Given the description of an element on the screen output the (x, y) to click on. 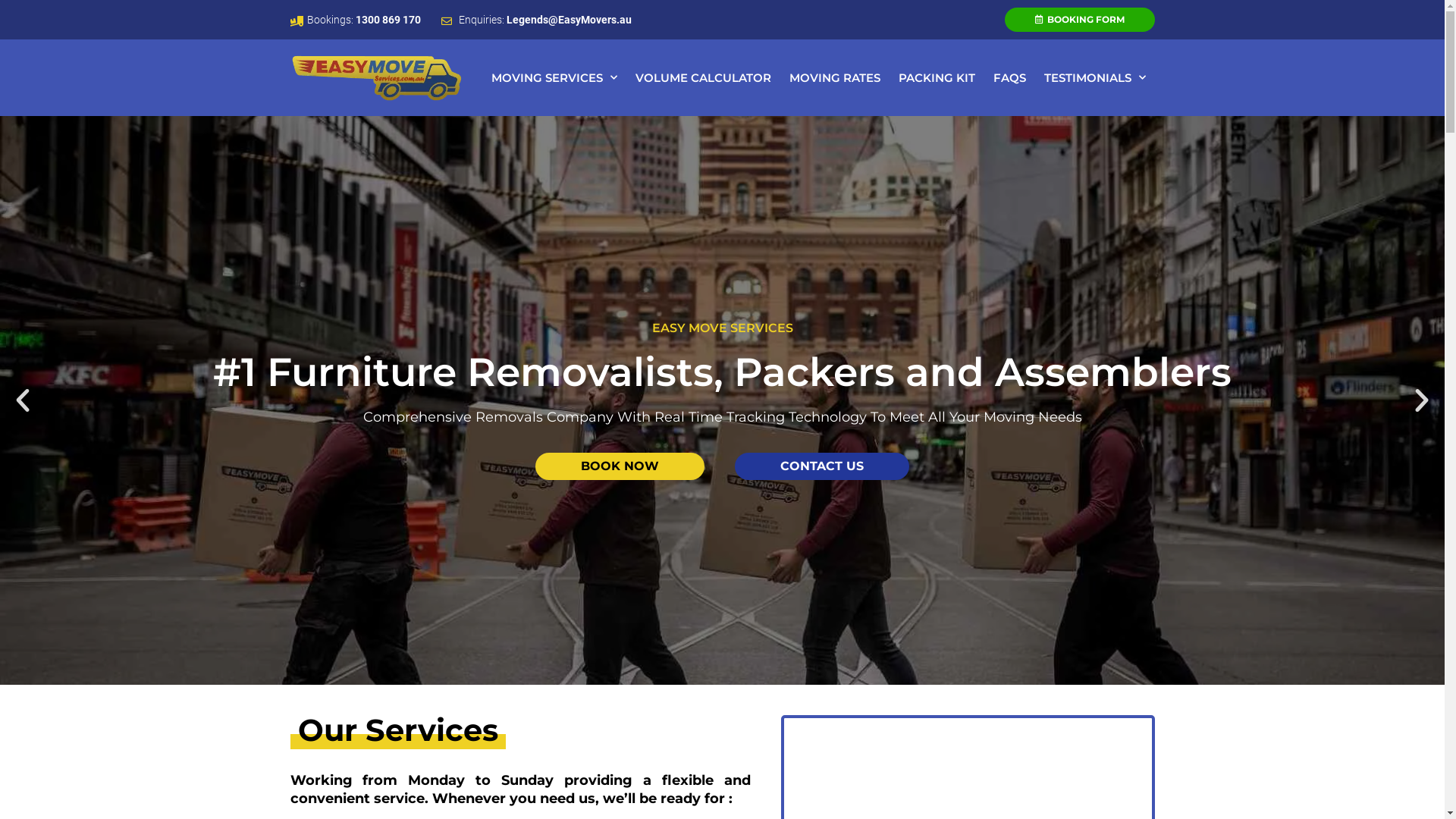
BOOKING FORM Element type: text (1079, 19)
MOVING SERVICES Element type: text (554, 77)
CHECK OUR RATES Element type: text (722, 468)
MOVING RATES Element type: text (833, 77)
Enquiries: Legends@EasyMovers.au Element type: text (536, 19)
VOLUME CALCULATOR Element type: text (703, 77)
PACKING KIT Element type: text (935, 77)
FAQS Element type: text (1009, 77)
Bookings: 1300 869 170 Element type: text (354, 19)
TESTIMONIALS Element type: text (1094, 77)
